Given the description of an element on the screen output the (x, y) to click on. 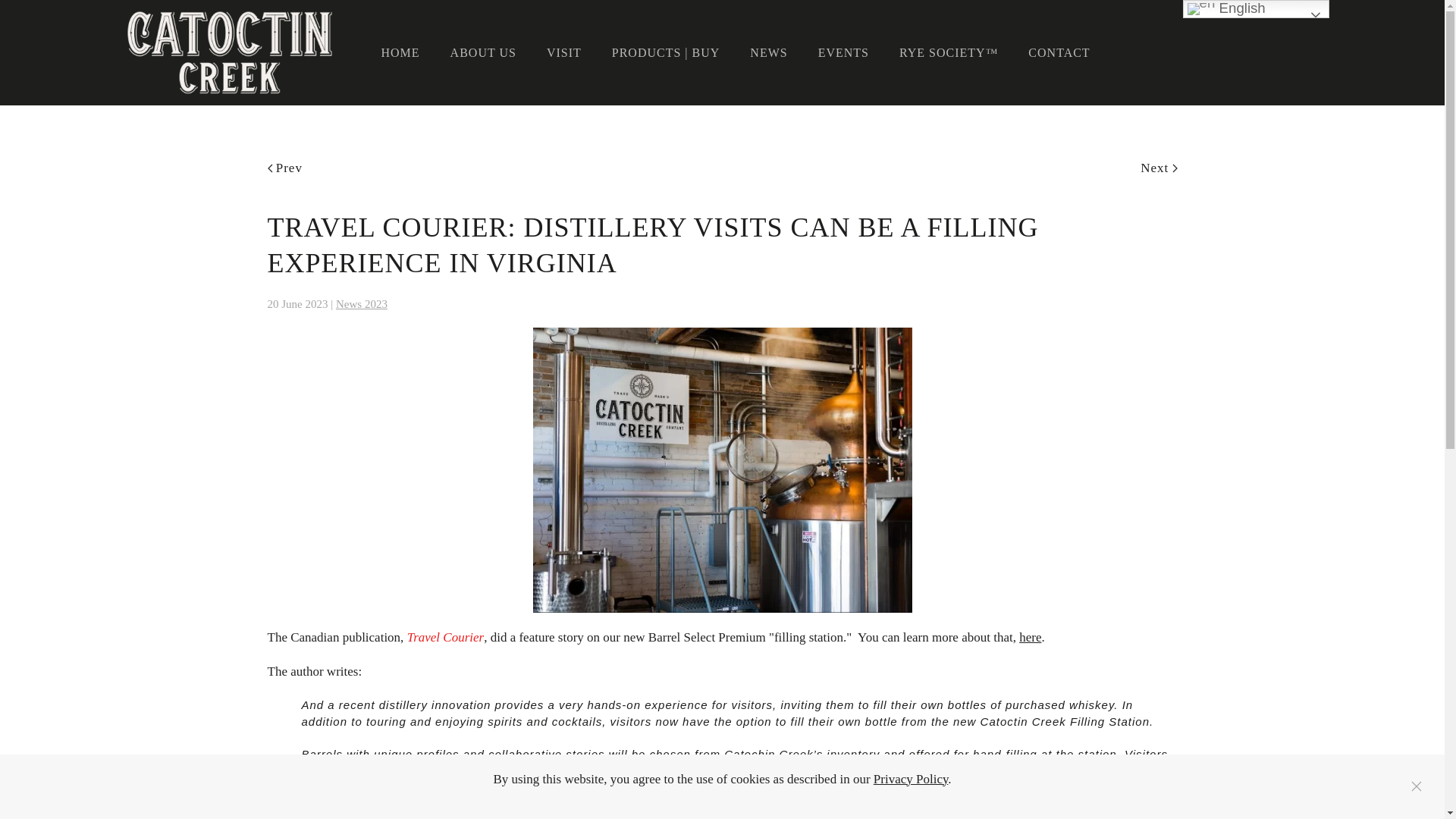
HOME (399, 52)
NEWS (768, 52)
CONTACT (1059, 52)
ABOUT US (483, 52)
EVENTS (843, 52)
